Given the description of an element on the screen output the (x, y) to click on. 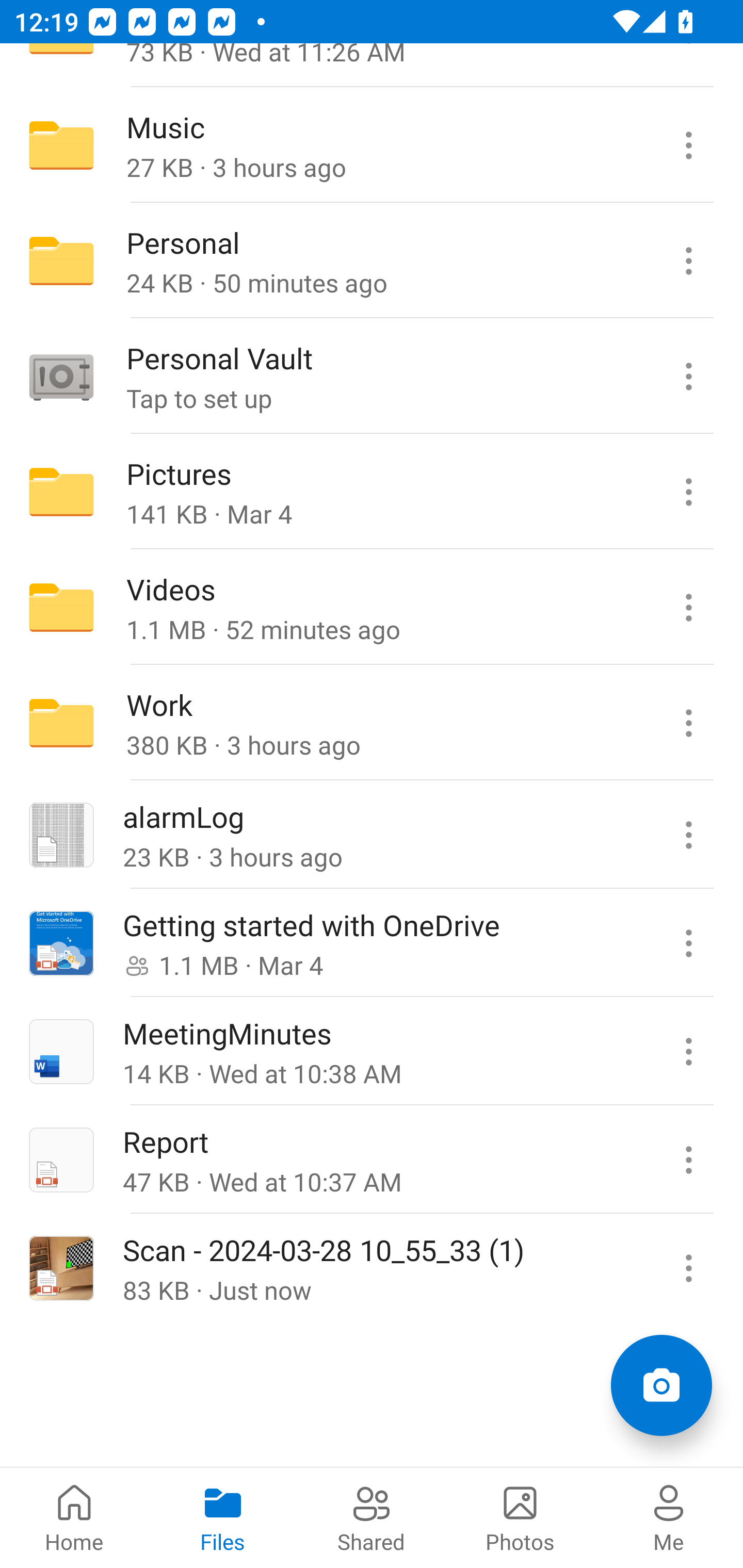
Folder Music 27 KB · 3 hours ago Music commands (371, 145)
Music commands (688, 145)
Personal commands (688, 260)
Personal Vault commands (688, 376)
Folder Pictures 141 KB · Mar 4 Pictures commands (371, 492)
Pictures commands (688, 492)
Videos commands (688, 607)
Folder Work 380 KB · 3 hours ago Work commands (371, 722)
Work commands (688, 722)
alarmLog commands (688, 834)
Getting started with OneDrive commands (688, 943)
MeetingMinutes commands (688, 1051)
Report commands (688, 1159)
Scan - 2024-03-28 10_55_33 (1) commands (688, 1267)
Add items Scan (660, 1385)
Home pivot Home (74, 1517)
Shared pivot Shared (371, 1517)
Photos pivot Photos (519, 1517)
Me pivot Me (668, 1517)
